Given the description of an element on the screen output the (x, y) to click on. 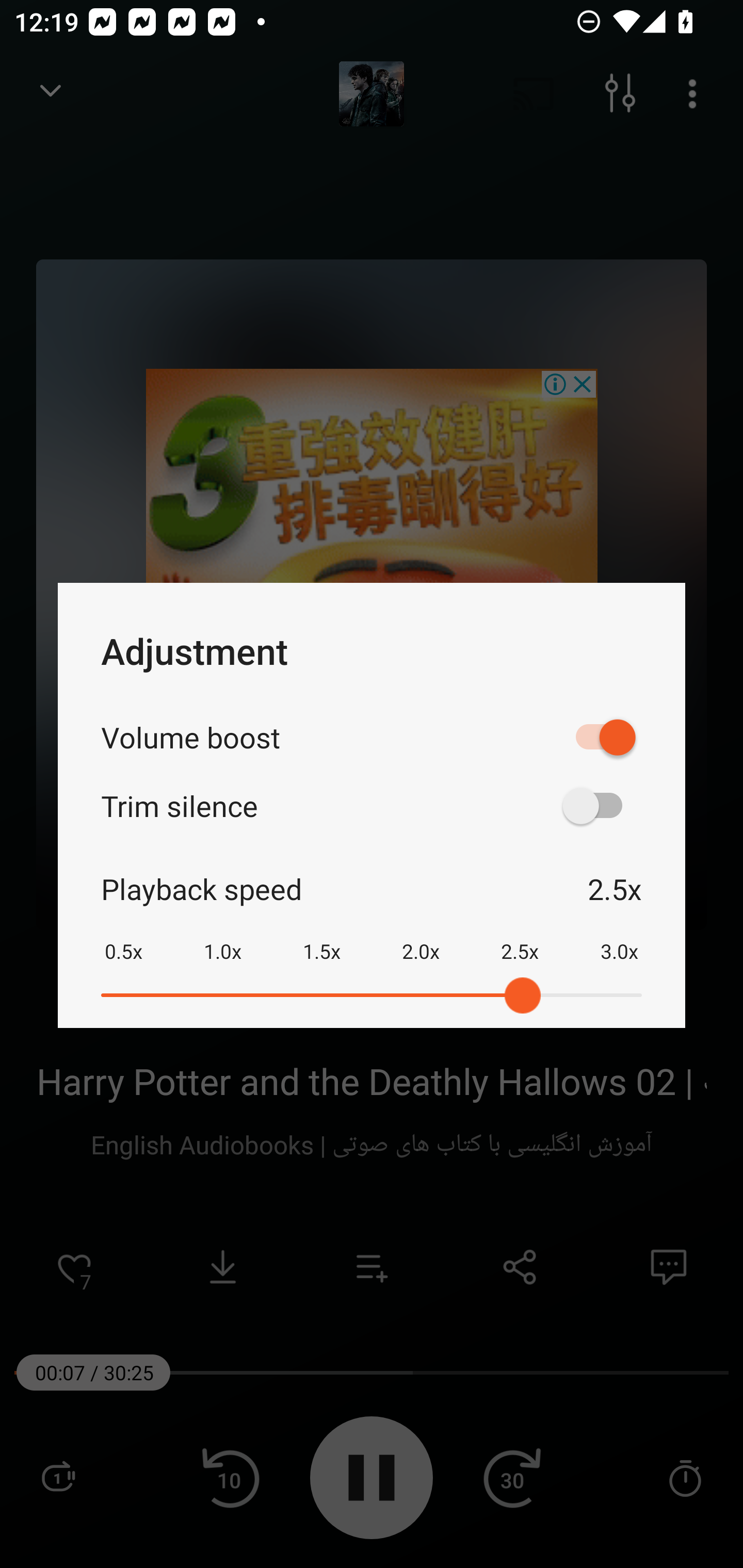
0.5x (123, 937)
1.0x (222, 937)
1.5x (321, 937)
2.0x (420, 937)
2.5x (519, 937)
3.0x (618, 937)
